Given the description of an element on the screen output the (x, y) to click on. 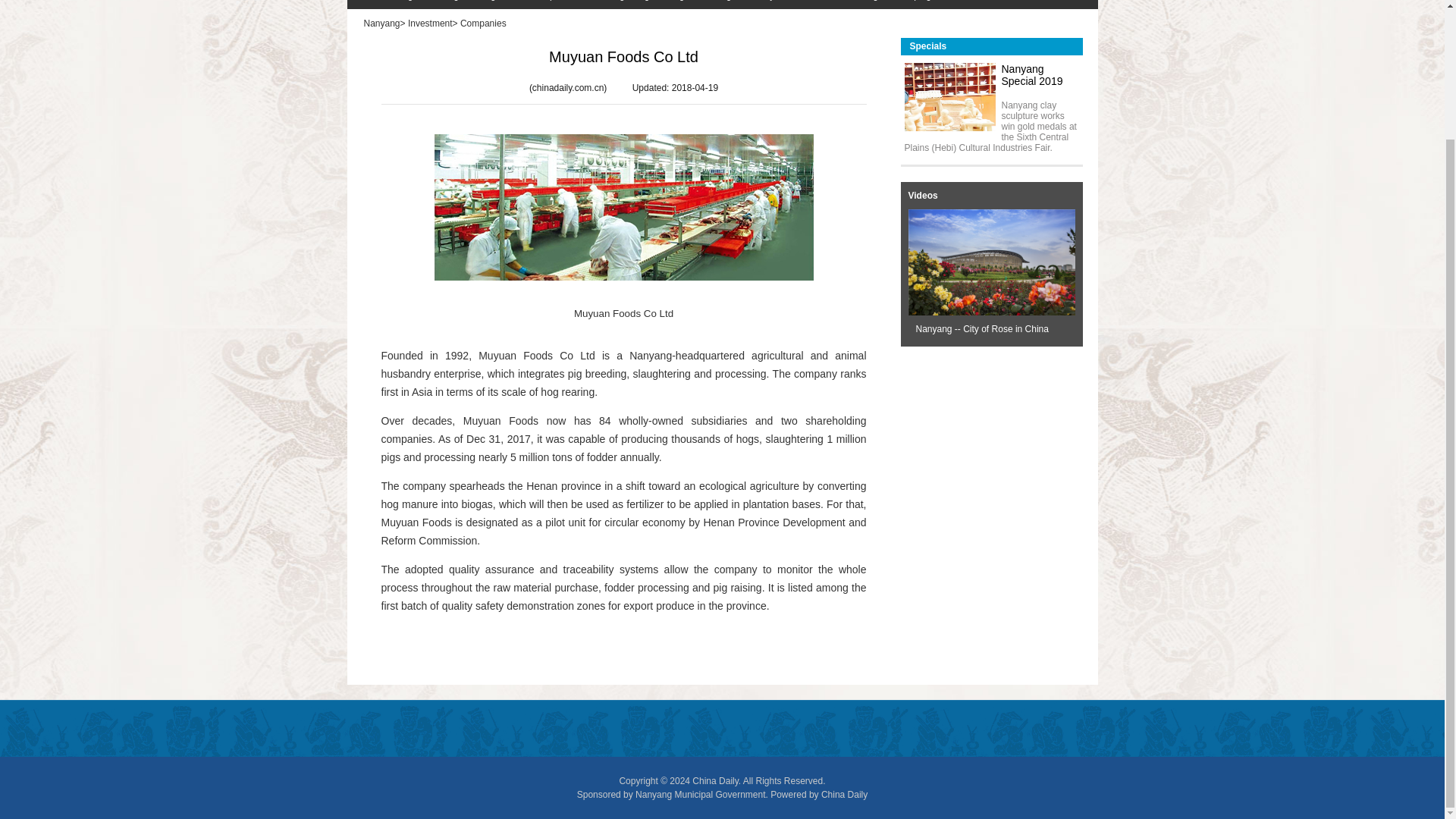
Sheqi (534, 4)
Wancheng (384, 4)
Dengzhou (486, 4)
Xixia (570, 4)
Fangcheng (618, 4)
Wolong (435, 4)
